Given the description of an element on the screen output the (x, y) to click on. 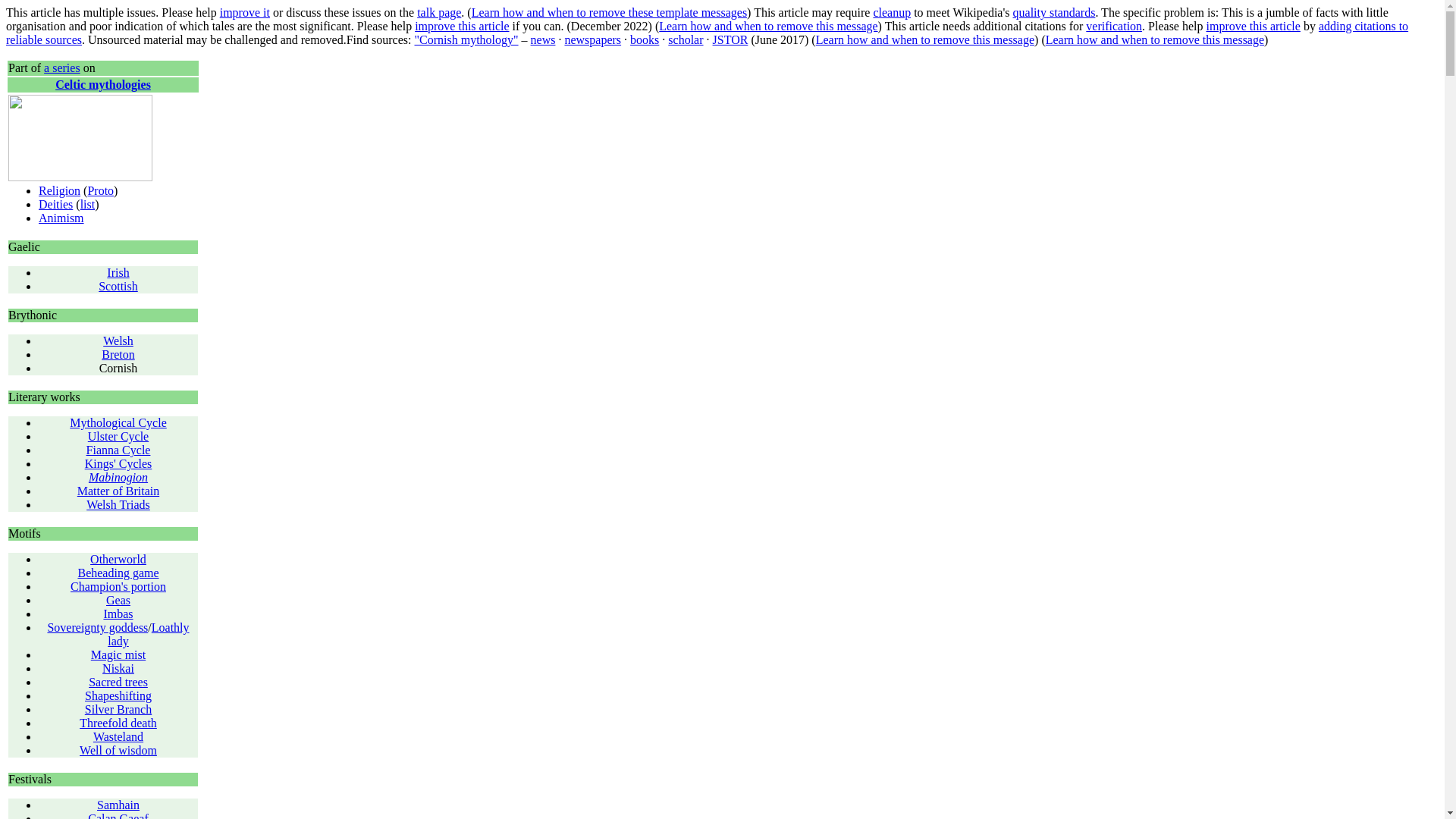
Mythological Cycle (118, 422)
Breton (118, 354)
Fenian Cycle (118, 449)
Learn how and when to remove this message (768, 25)
Beheading game (117, 572)
Celtic Otherworld (118, 558)
scholar (685, 39)
Welsh (118, 340)
Welsh mythology (118, 340)
Celtic deities (55, 204)
books (644, 39)
Breton mythology (118, 354)
Animism (61, 217)
Proto (100, 190)
Welsh Triads (117, 504)
